Given the description of an element on the screen output the (x, y) to click on. 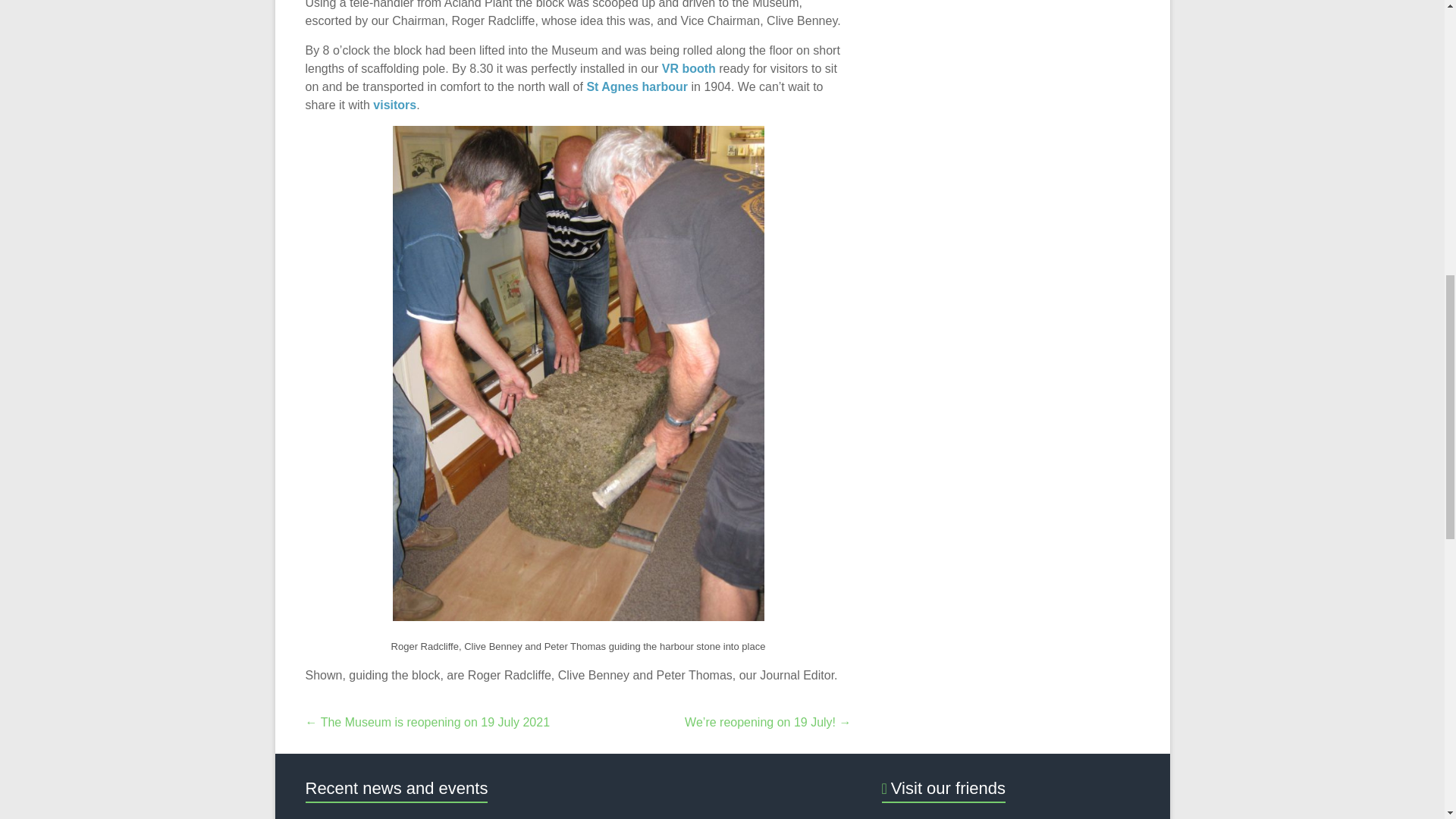
VR booth (689, 68)
St Agnes harbour (636, 86)
visitors (394, 104)
